Given the description of an element on the screen output the (x, y) to click on. 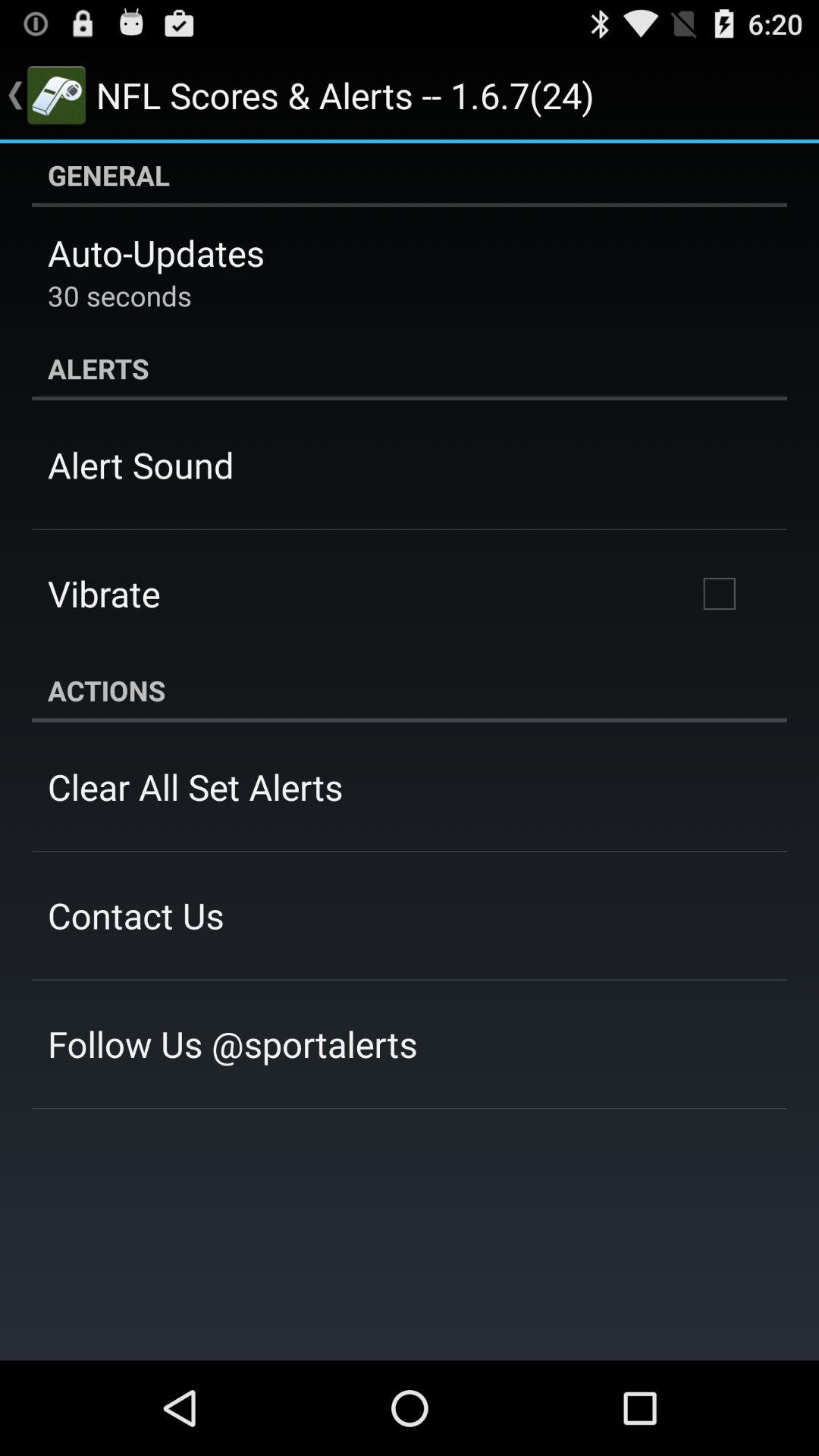
select the clear all set item (194, 786)
